Given the description of an element on the screen output the (x, y) to click on. 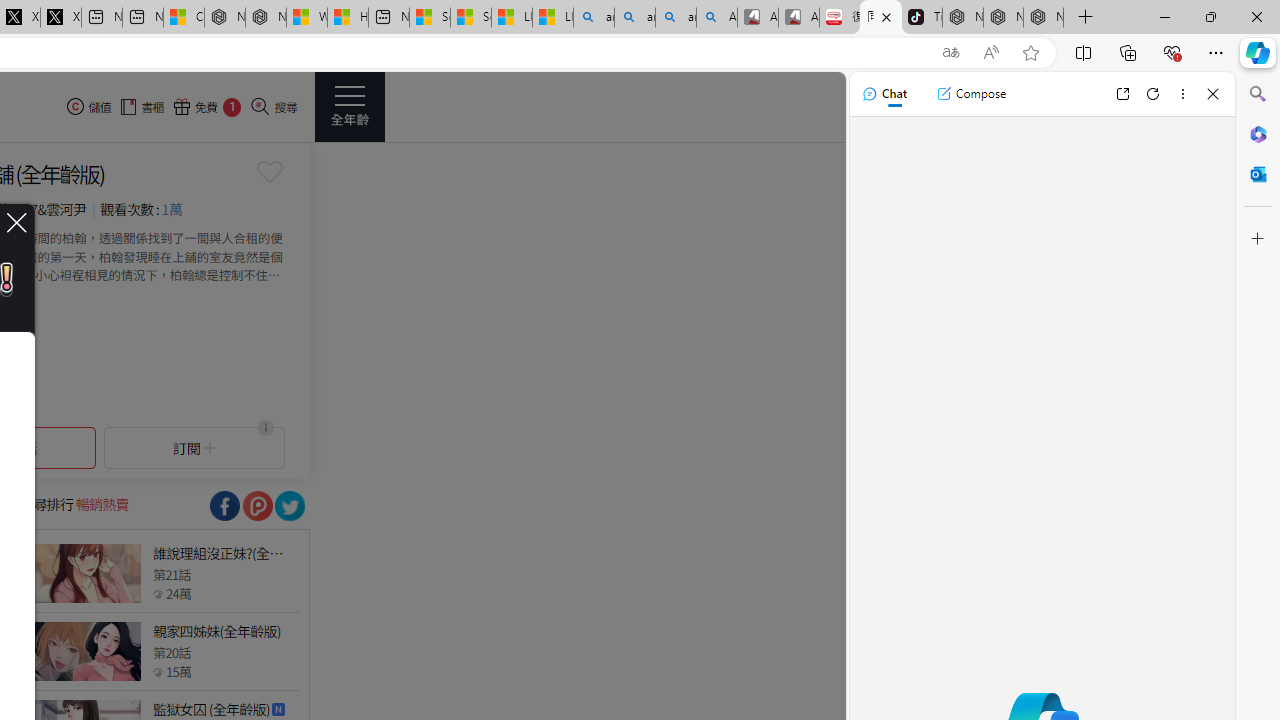
Search (1258, 94)
Nordace Siena Pro 15 Backpack (1003, 17)
Compose (971, 93)
New Tab (1085, 17)
Huge shark washes ashore at New York City beach | Watch (347, 17)
Nordace - Siena Pro 15 Essential Set (1043, 17)
Browser essentials (1171, 52)
Restore (1210, 16)
Copilot (Ctrl+Shift+.) (1258, 52)
Close (1213, 93)
